Given the description of an element on the screen output the (x, y) to click on. 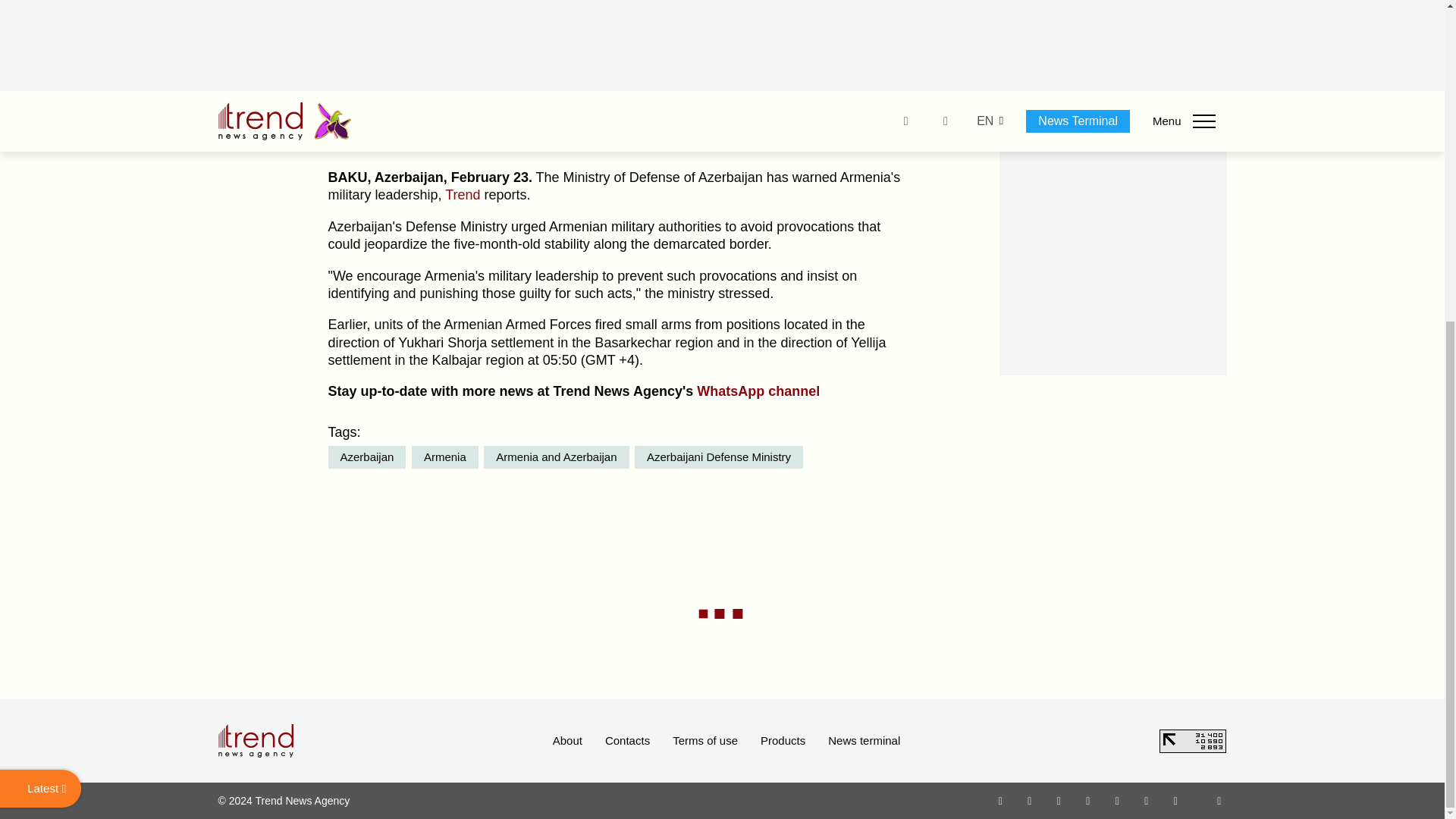
Facebook (1029, 800)
Telegram (1117, 800)
Android App (1176, 800)
RSS Feed (1219, 800)
Youtube (1088, 800)
LinkedIn (1146, 800)
Whatsapp (1000, 800)
Twitter (1059, 800)
